Given the description of an element on the screen output the (x, y) to click on. 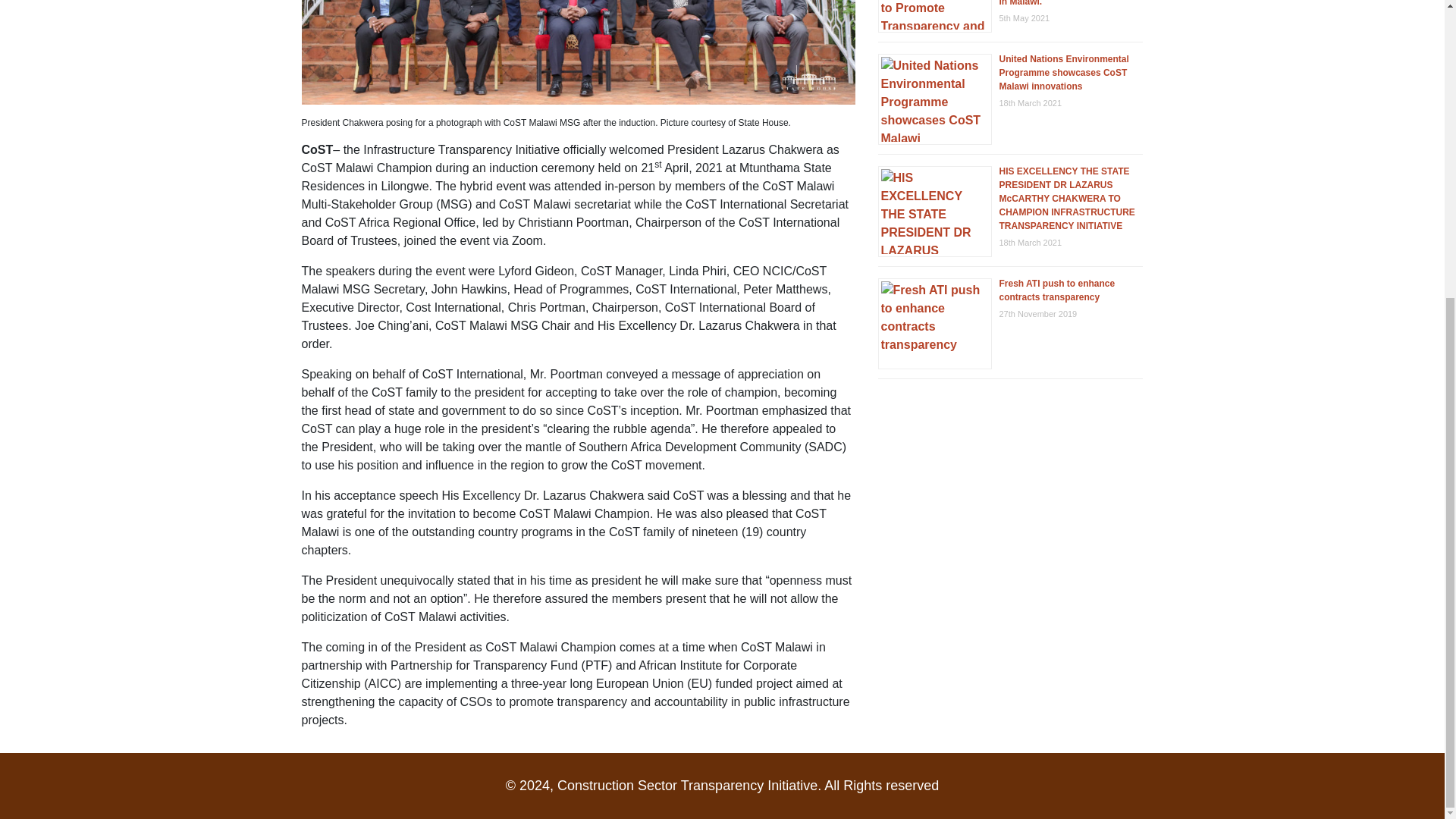
Fresh ATI push to enhance contracts transparency (1056, 290)
